Given the description of an element on the screen output the (x, y) to click on. 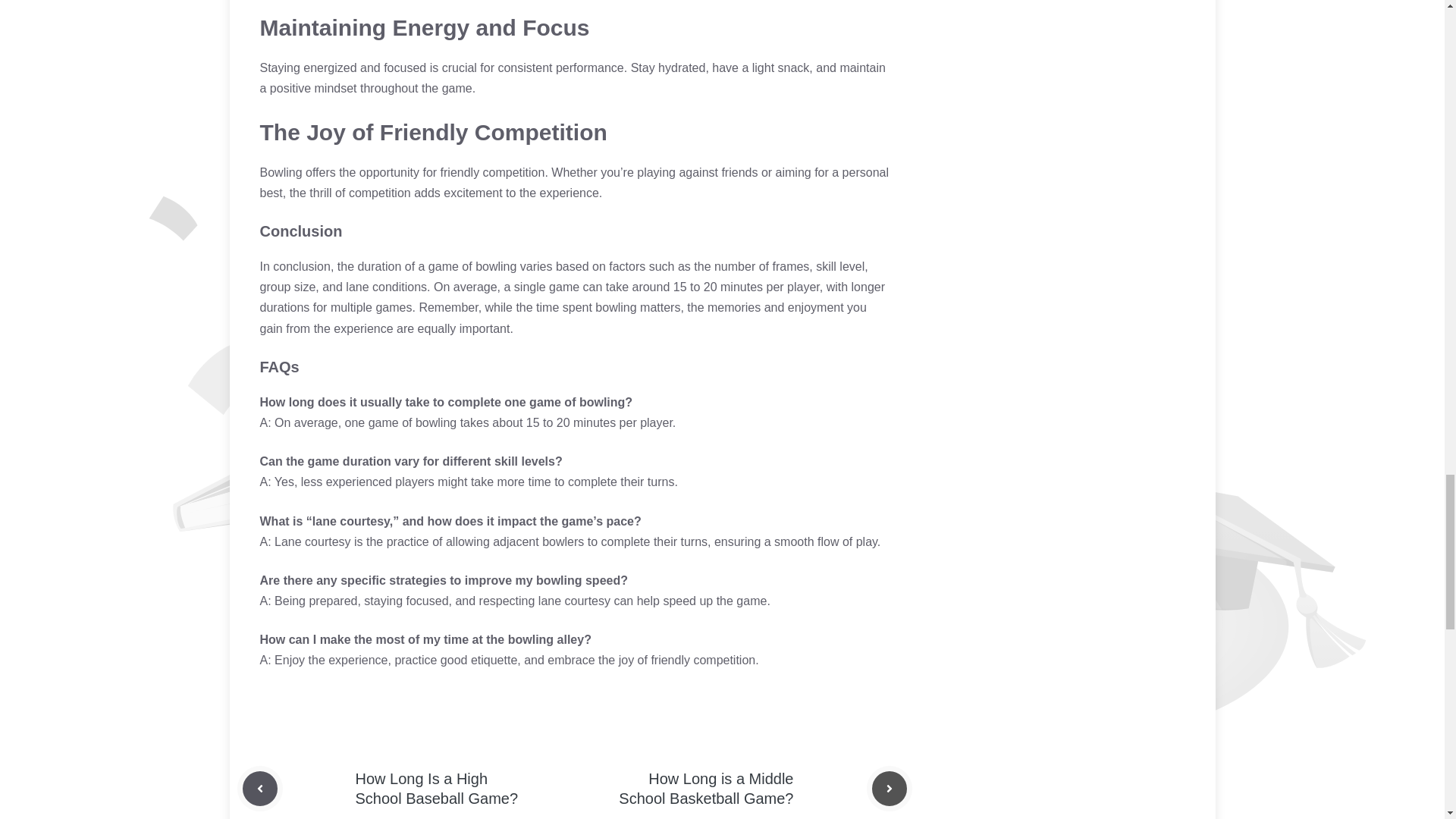
How Long Is a High School Baseball Game? (436, 788)
How Long is a Middle School Basketball Game? (705, 788)
